Given the description of an element on the screen output the (x, y) to click on. 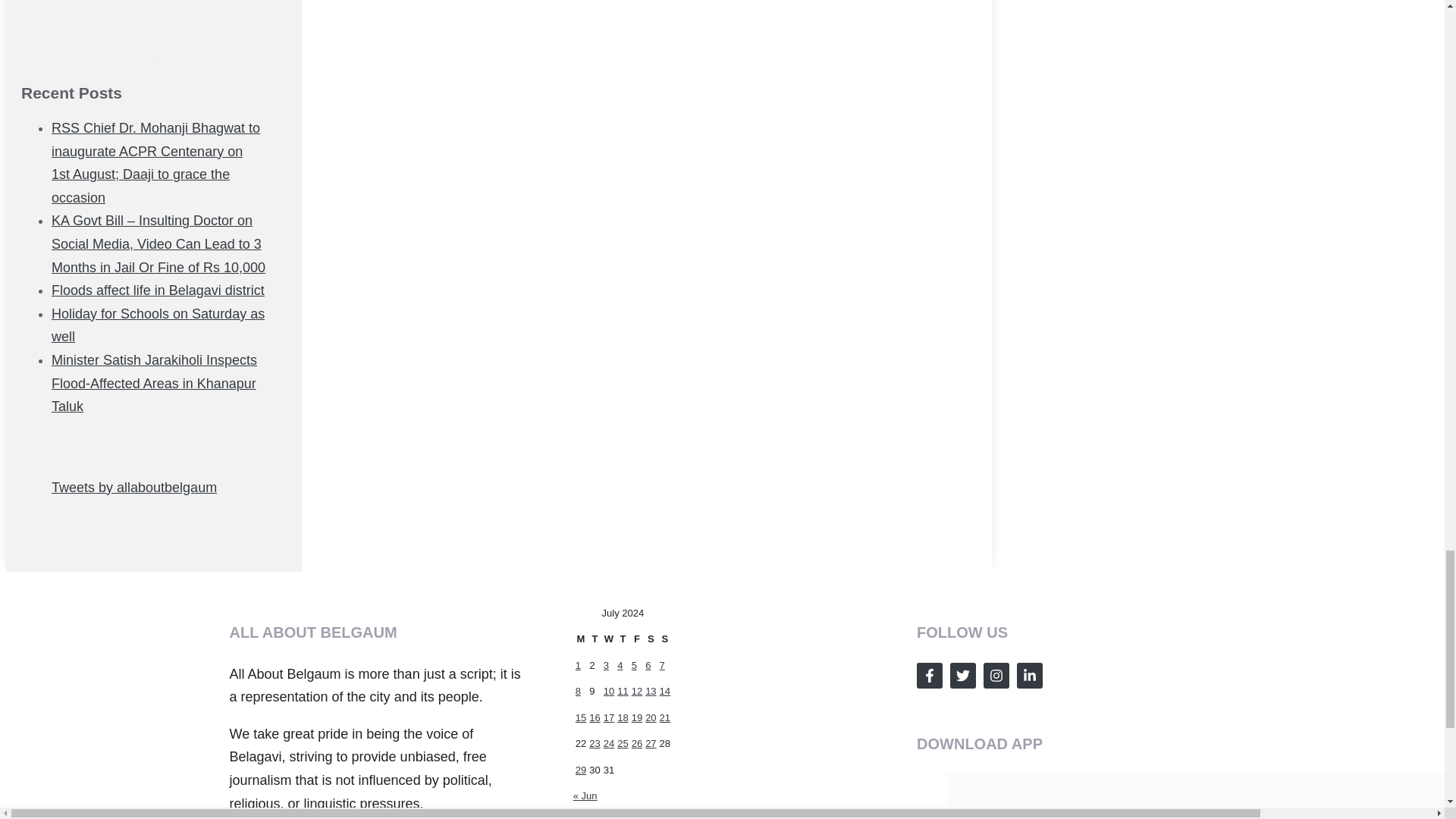
Floods affect life in Belagavi district (157, 290)
Holiday for Schools on Saturday as well (157, 325)
Tweets by allaboutbelgaum (133, 487)
